Given the description of an element on the screen output the (x, y) to click on. 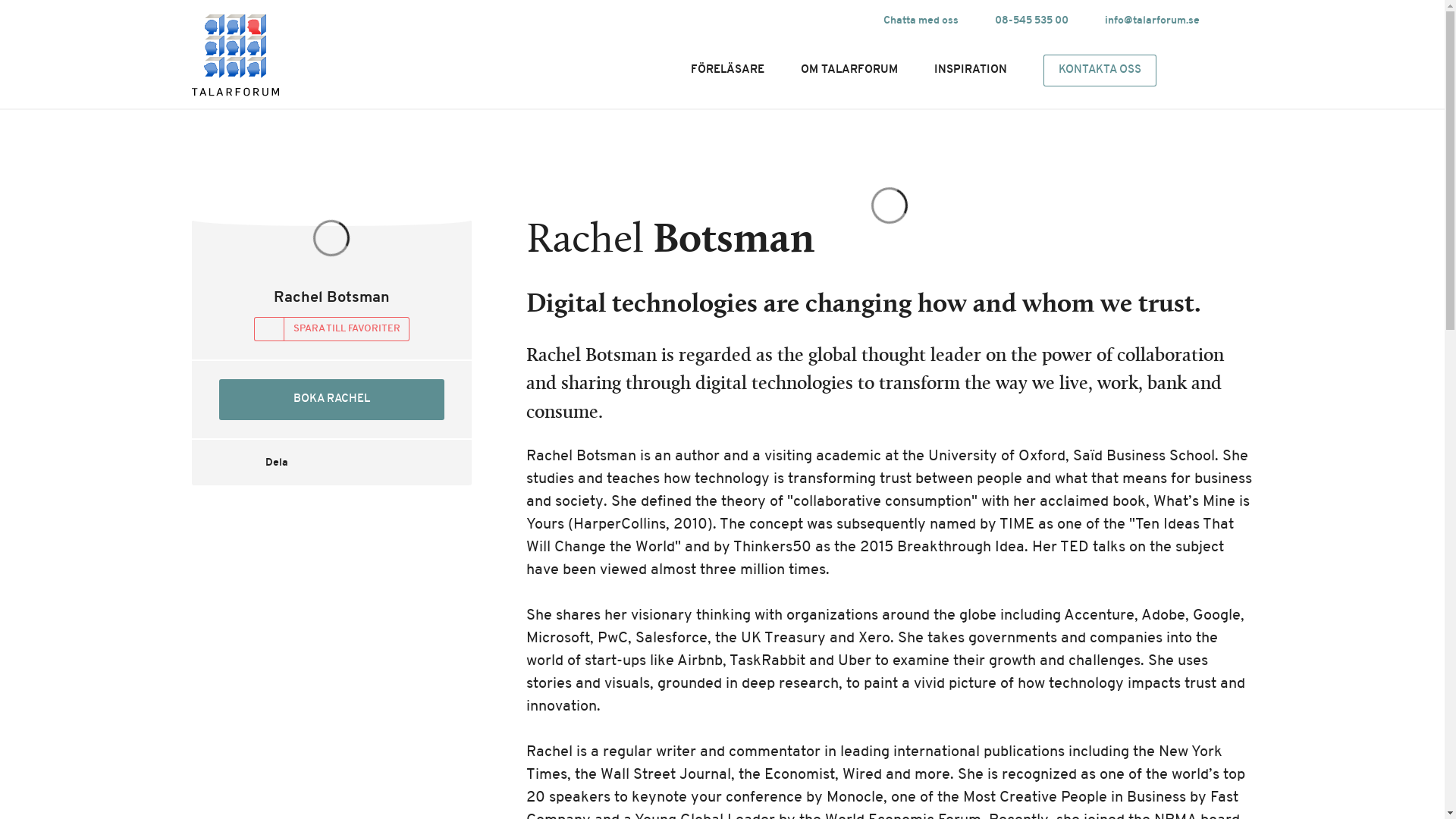
BOKA RACHEL (331, 399)
Youtube (782, 20)
LinkedIn (809, 20)
Chatta med oss (919, 20)
X (836, 20)
Kontaktuppgifter: Telefon, adress och e-post (1099, 70)
Facebook (754, 20)
08-545 535 00 (1031, 20)
Instagram (727, 20)
OM TALARFORUM (849, 69)
KONTAKTA OSS (1099, 70)
INSPIRATION (970, 69)
